Given the description of an element on the screen output the (x, y) to click on. 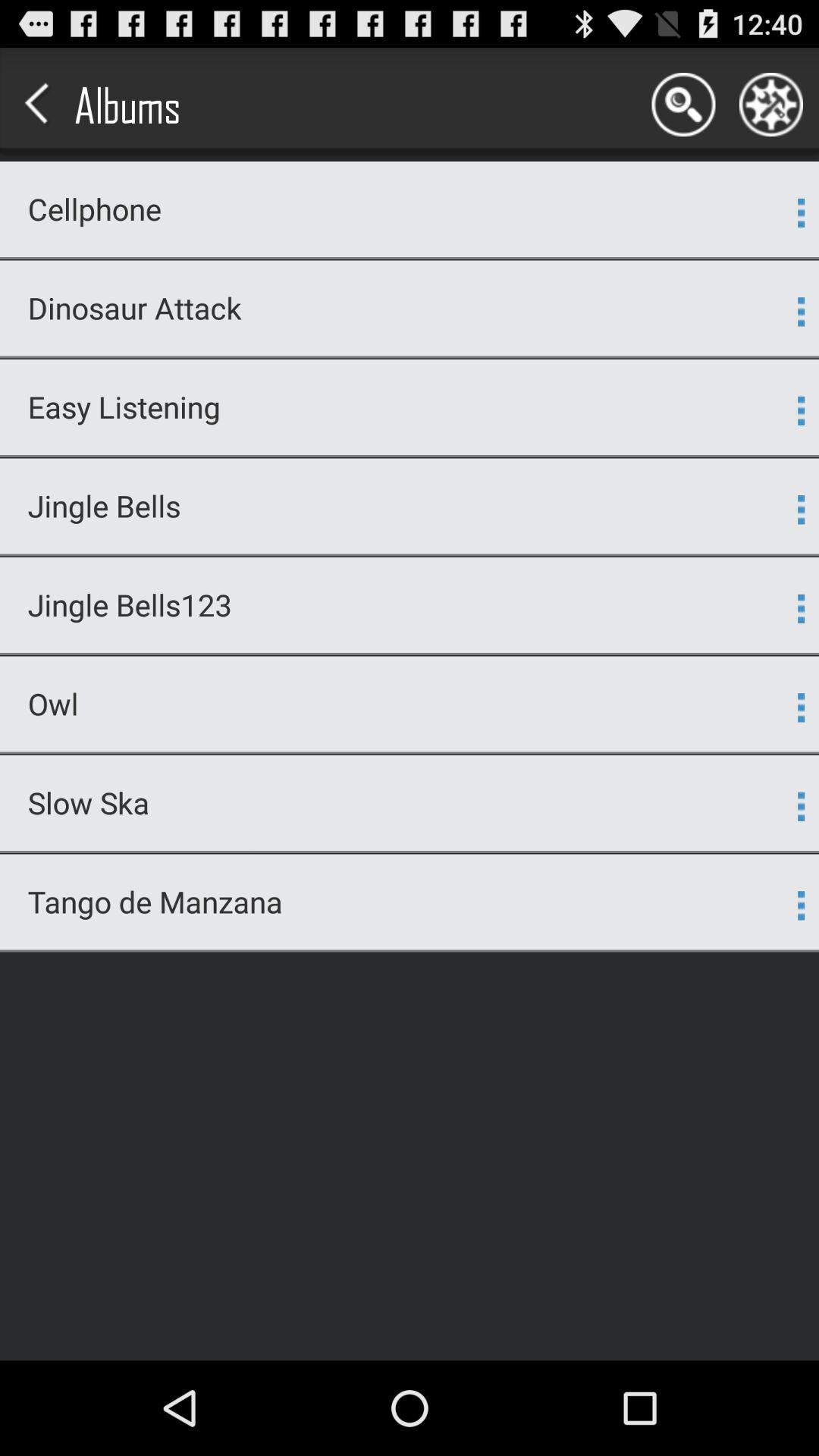
choose app below the jingle bells123 icon (409, 653)
